Given the description of an element on the screen output the (x, y) to click on. 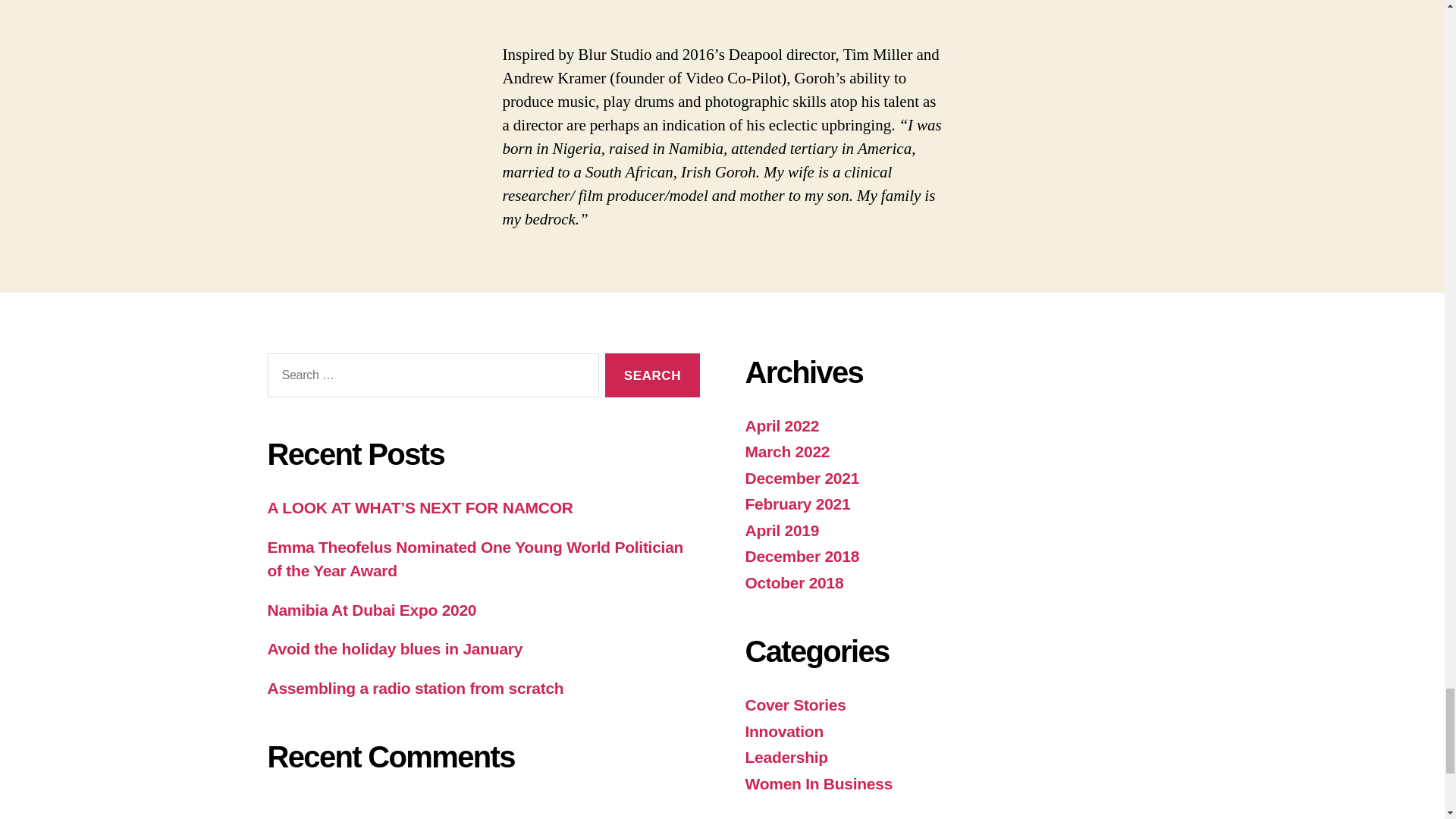
Search (651, 375)
Search (651, 375)
Search (651, 375)
